Given the description of an element on the screen output the (x, y) to click on. 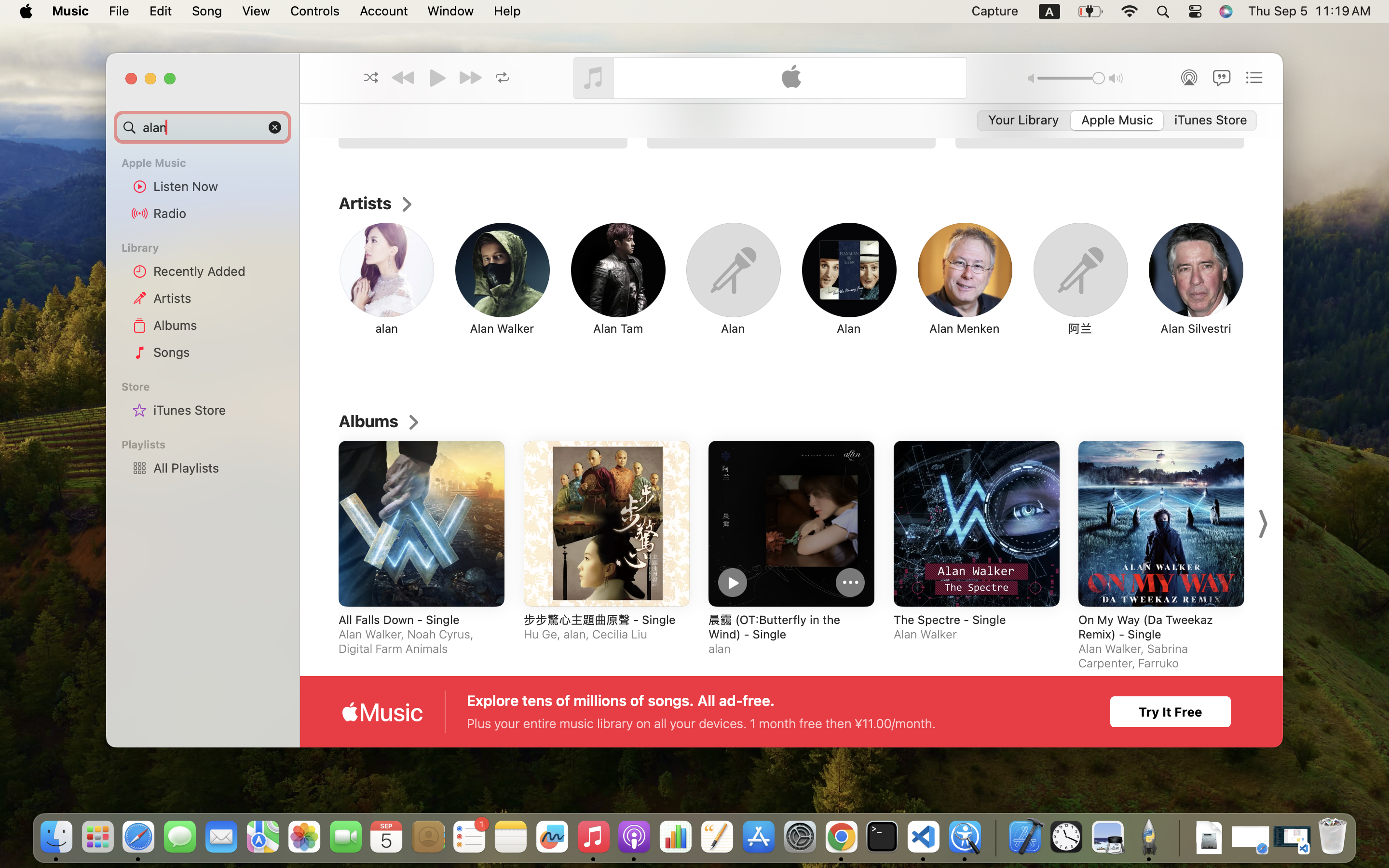
Explore tens of millions of songs. All ad-free. Element type: AXStaticText (620, 700)
Alan Lomax Element type: AXStaticText (1311, 328)
一念執著 Element type: AXStaticText (1039, 749)
Store Element type: AXStaticText (208, 386)
